Given the description of an element on the screen output the (x, y) to click on. 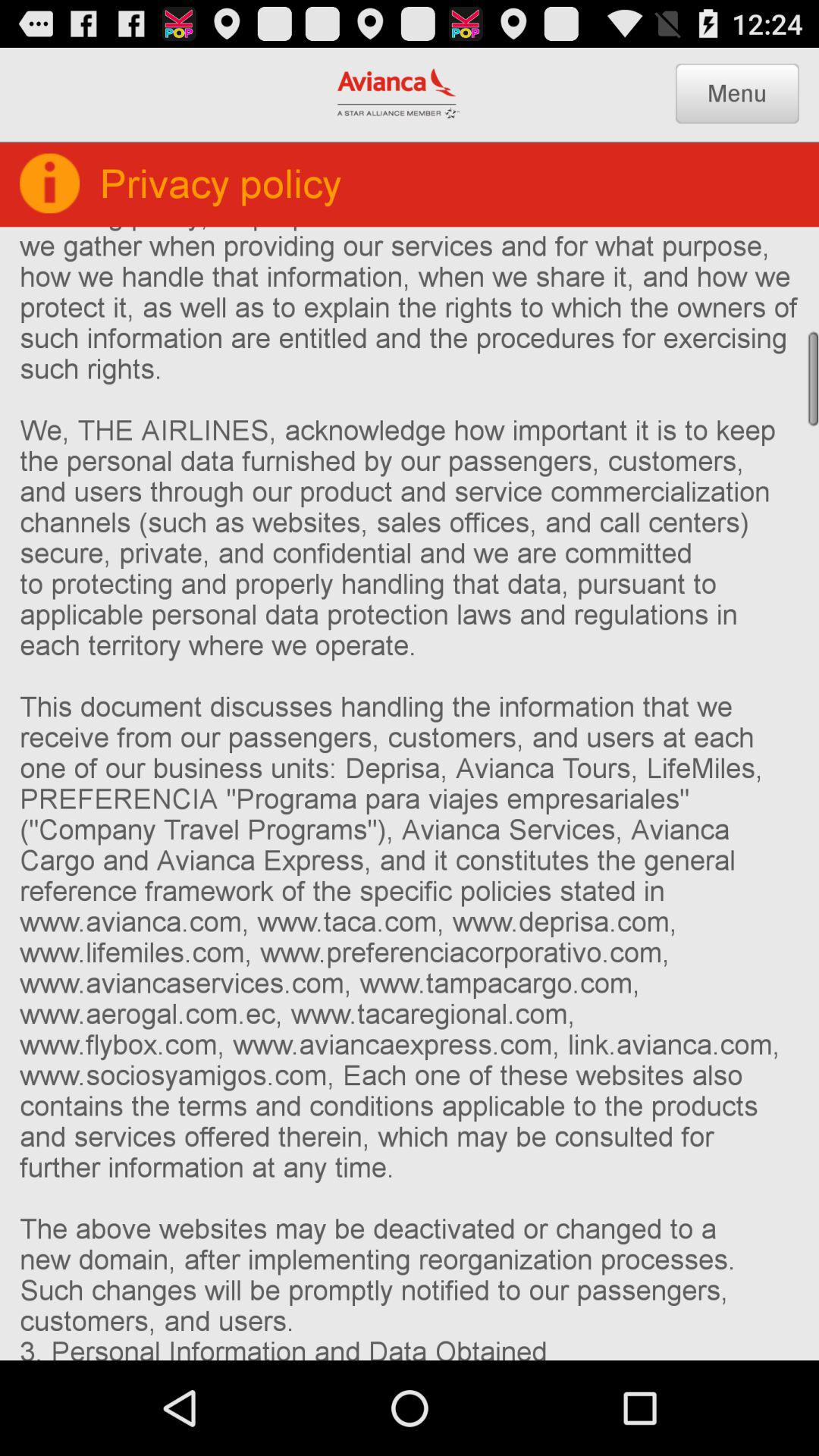
click icon at the top right corner (737, 93)
